Given the description of an element on the screen output the (x, y) to click on. 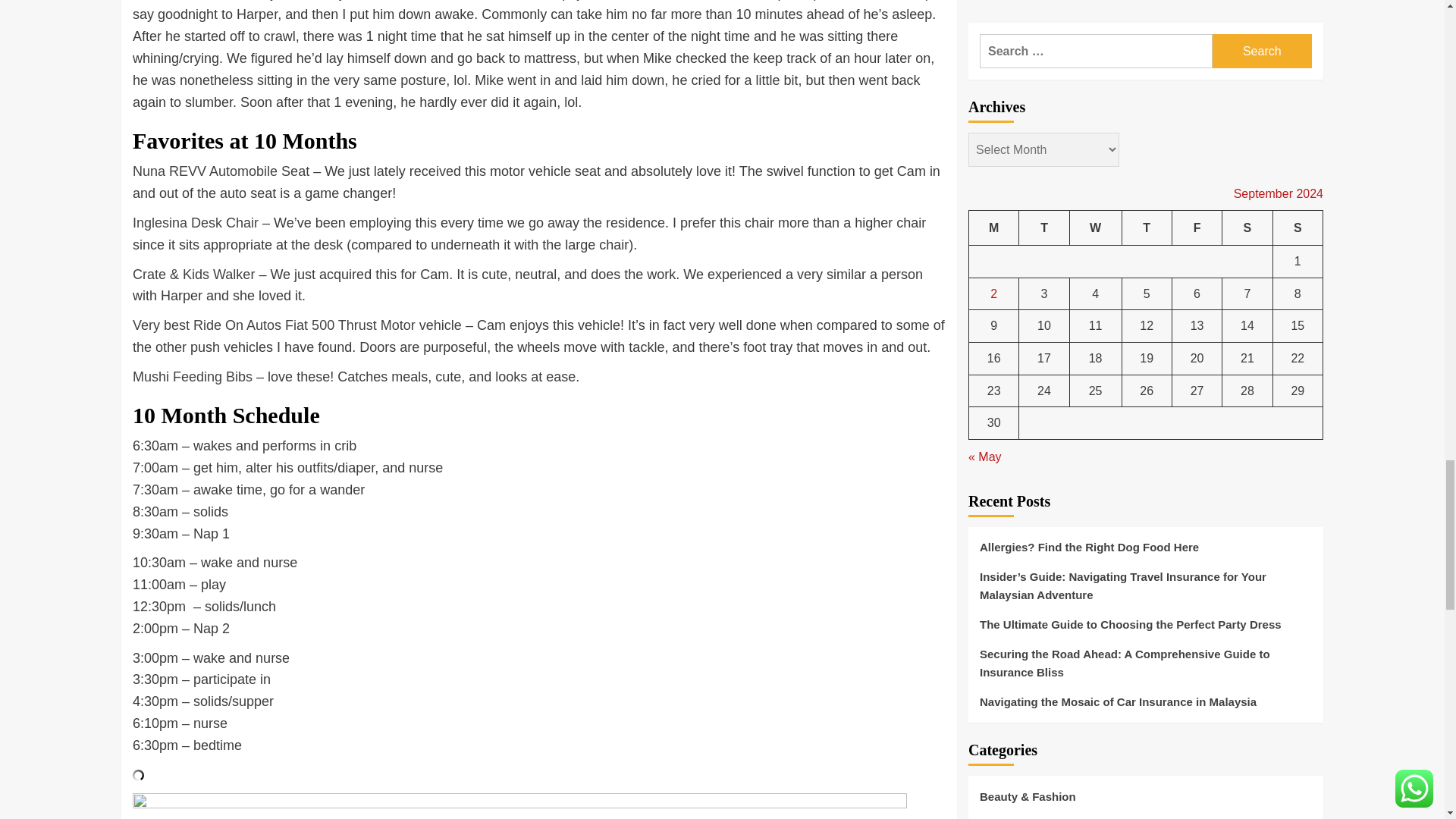
Inglesina Desk Chair (195, 222)
Mushi Feeding Bibs (191, 376)
Very best Ride On Autos Fiat 500 Thrust Motor vehicle (296, 324)
Nuna REVV Automobile Seat (220, 171)
